Given the description of an element on the screen output the (x, y) to click on. 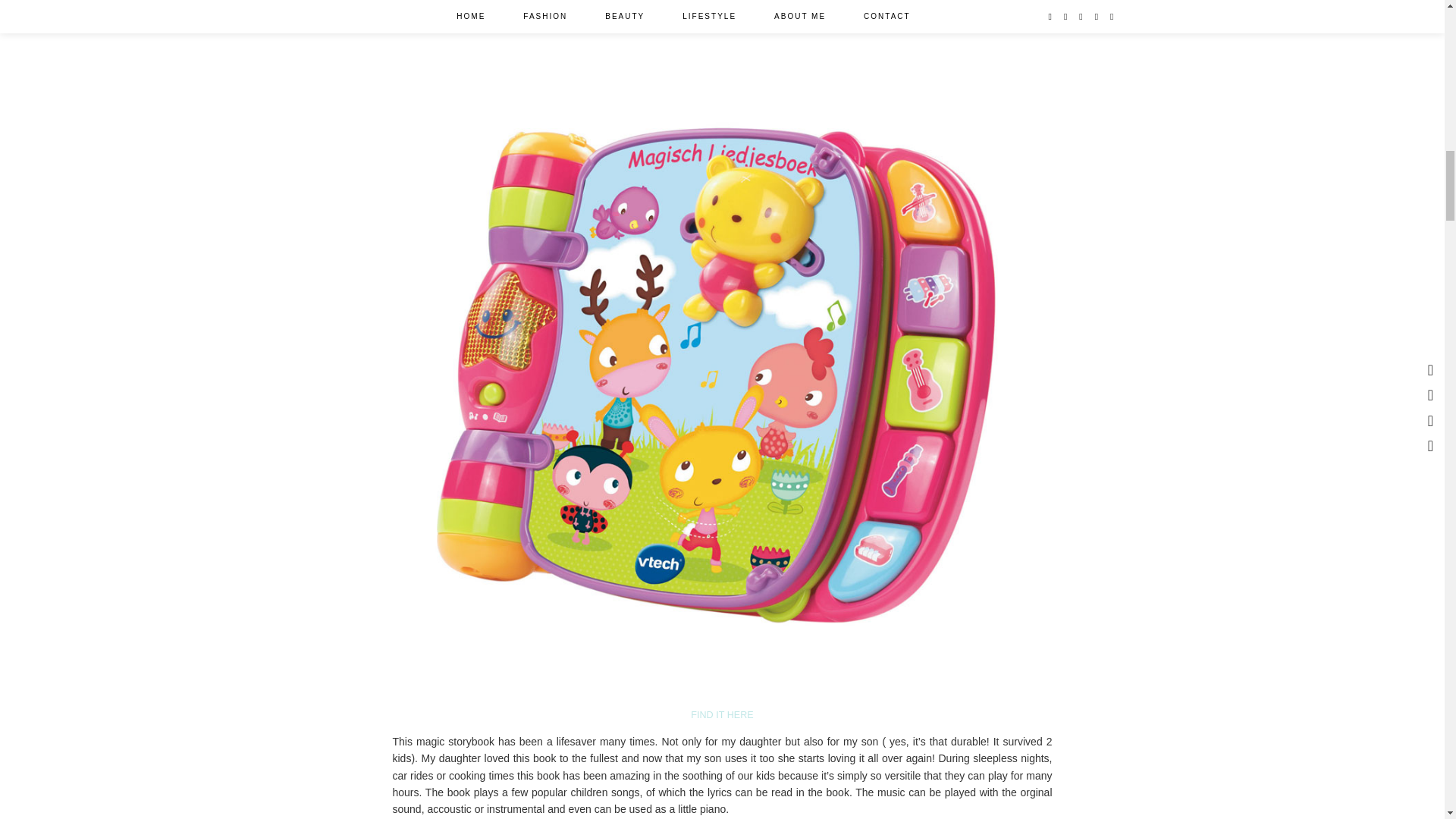
FIND IT HERE (721, 715)
